Given the description of an element on the screen output the (x, y) to click on. 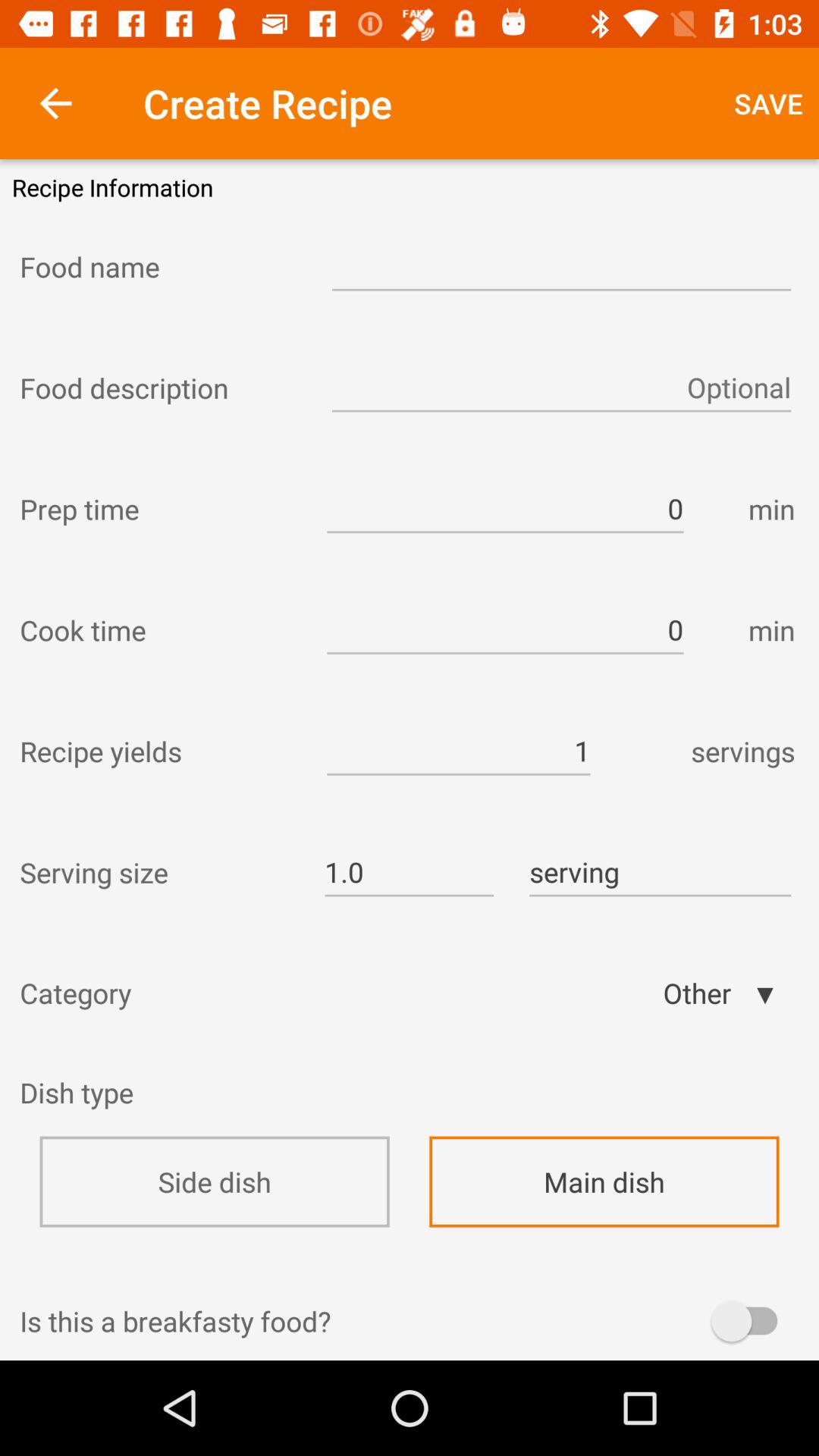
select the app to the left of main dish app (214, 1181)
